Given the description of an element on the screen output the (x, y) to click on. 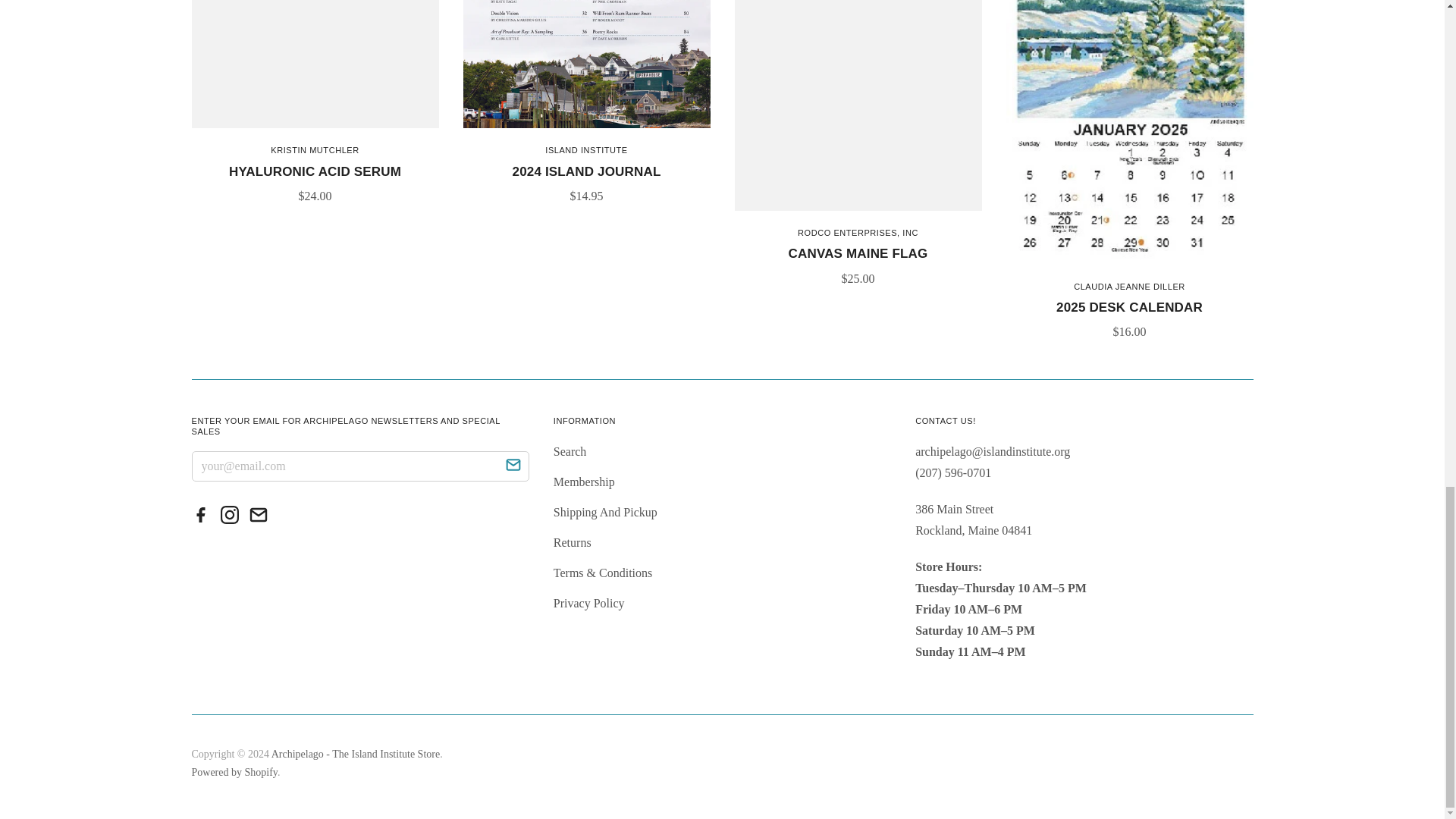
Claudia Jeanne Diller (1129, 286)
Rodco Enterprises, Inc (857, 232)
Island Institute (585, 149)
Kristin Mutchler (314, 149)
